Given the description of an element on the screen output the (x, y) to click on. 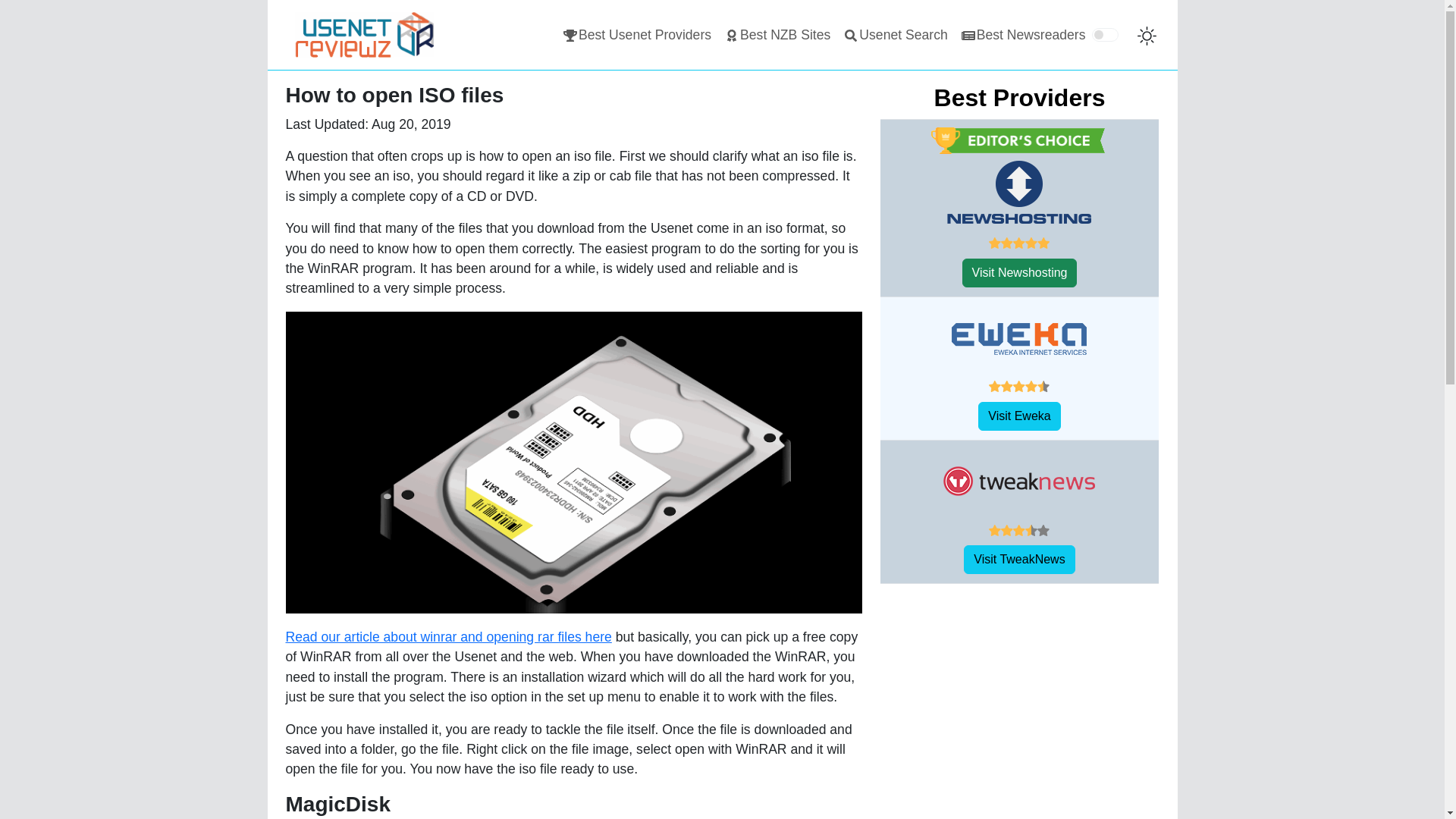
Best Newsreaders (1022, 34)
Read our article about winrar and opening rar files here (448, 636)
Best NZB Sites (731, 35)
Best Usenet Providers (636, 34)
Visit Newshosting (1018, 272)
Best Usenet Providers (570, 35)
Usenet Search (851, 35)
Visit TweakNews (1018, 559)
Best NZB Sites (776, 34)
on (1105, 34)
Best Usenet Providers (636, 34)
Usenet Search (894, 34)
Best Newsreaders (1022, 34)
Visit Eweka (1018, 416)
Best NZB Sites (776, 34)
